Given the description of an element on the screen output the (x, y) to click on. 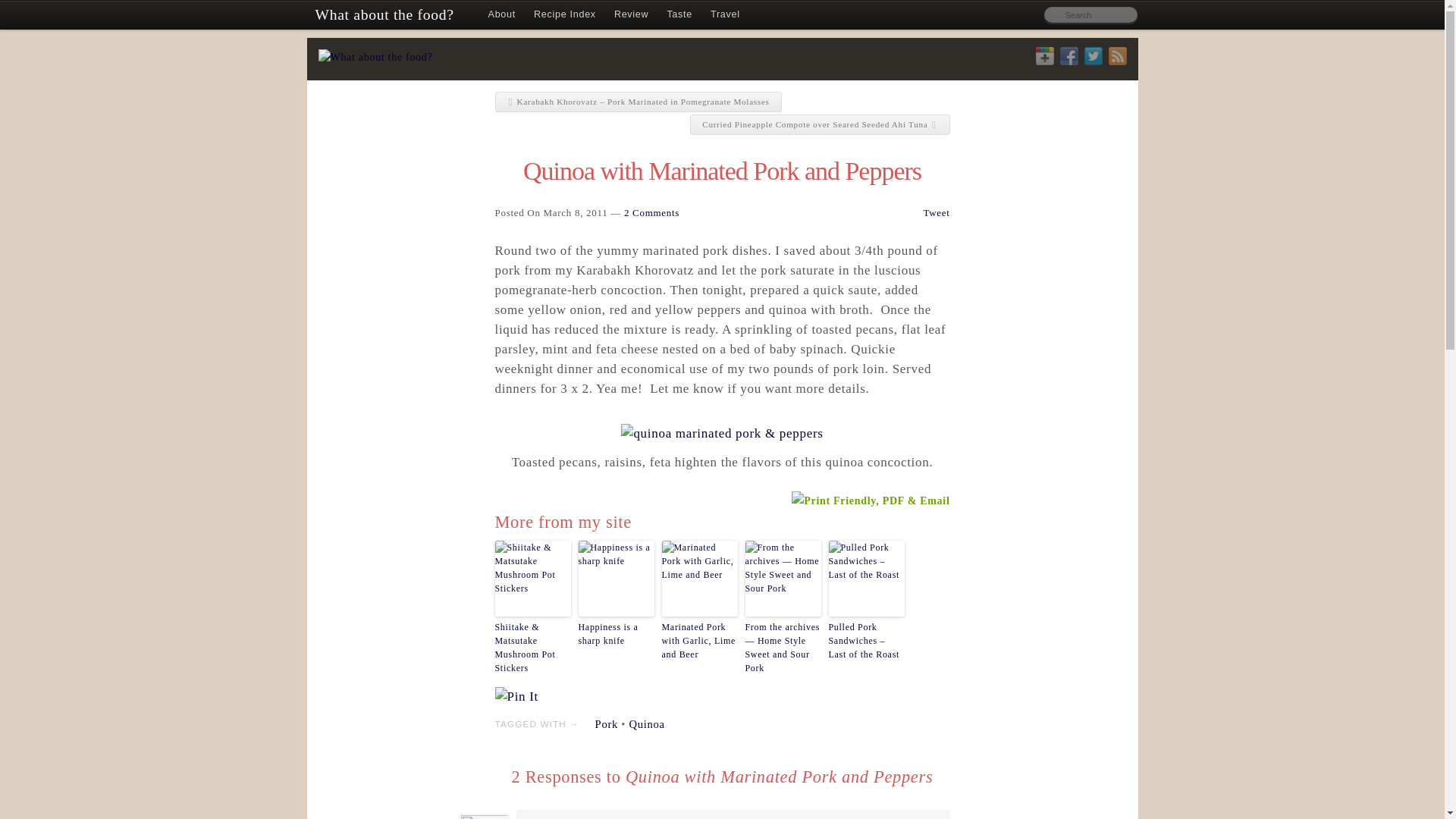
Pork (606, 724)
About (501, 14)
What about the food? (383, 14)
Pin It (516, 696)
Quinoa (646, 724)
Tweet (936, 212)
Marinated Pork with Garlic, Lime and Beer (698, 639)
Curried Pineapple Compote over Seared Seeded Ahi Tuna (819, 124)
Travel (725, 14)
Recipe Index (564, 14)
2 Comments (651, 212)
Taste (679, 14)
Happiness is a sharp knife (615, 633)
Review (631, 14)
What about the food? (383, 14)
